Given the description of an element on the screen output the (x, y) to click on. 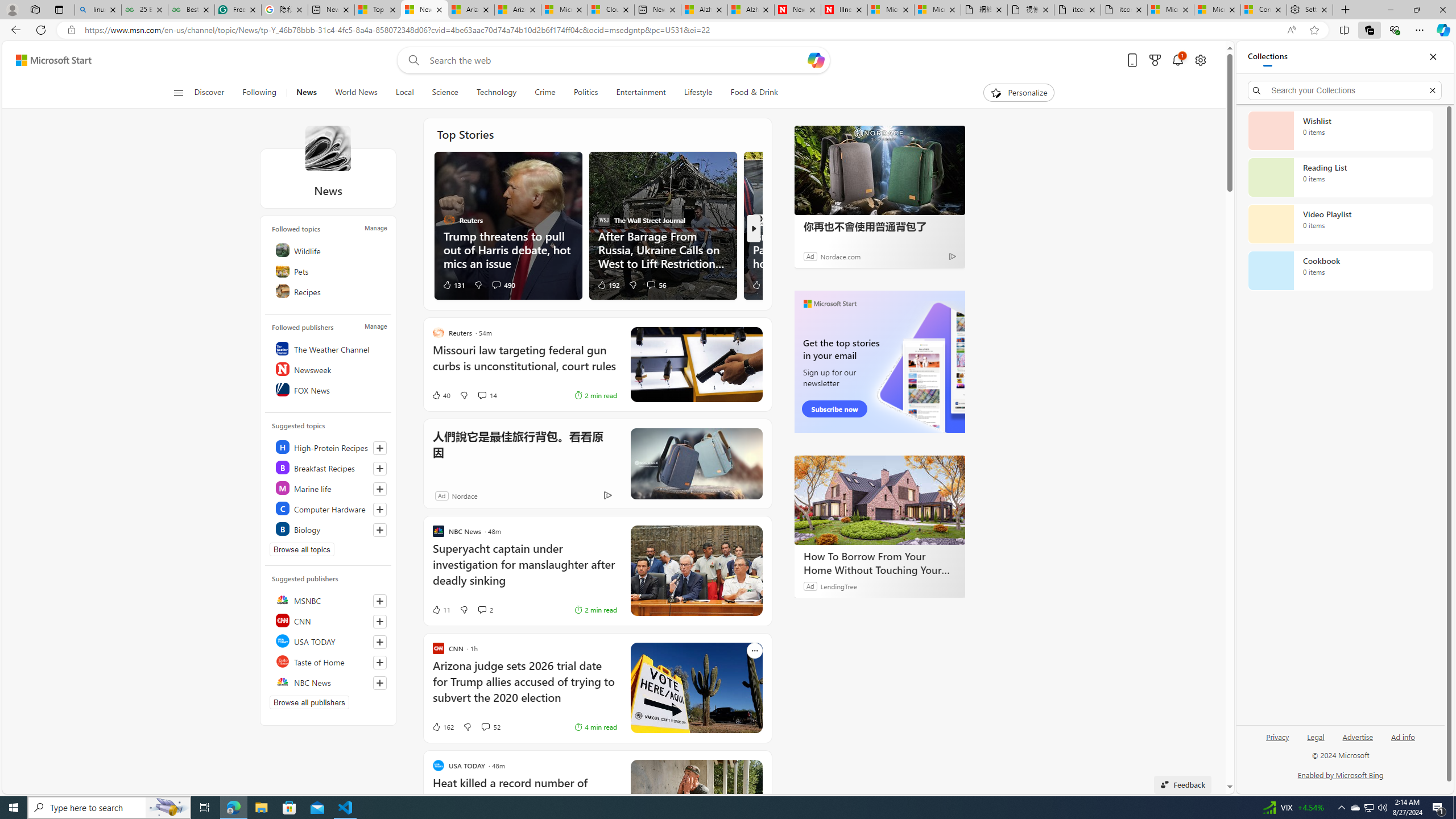
NBC News (328, 682)
Top Stories - MSN (377, 9)
Food & Drink (748, 92)
25 Basic Linux Commands For Beginners - GeeksforGeeks (144, 9)
World News (355, 92)
Recipes (328, 290)
CNN (328, 620)
Wildlife (328, 249)
